Given the description of an element on the screen output the (x, y) to click on. 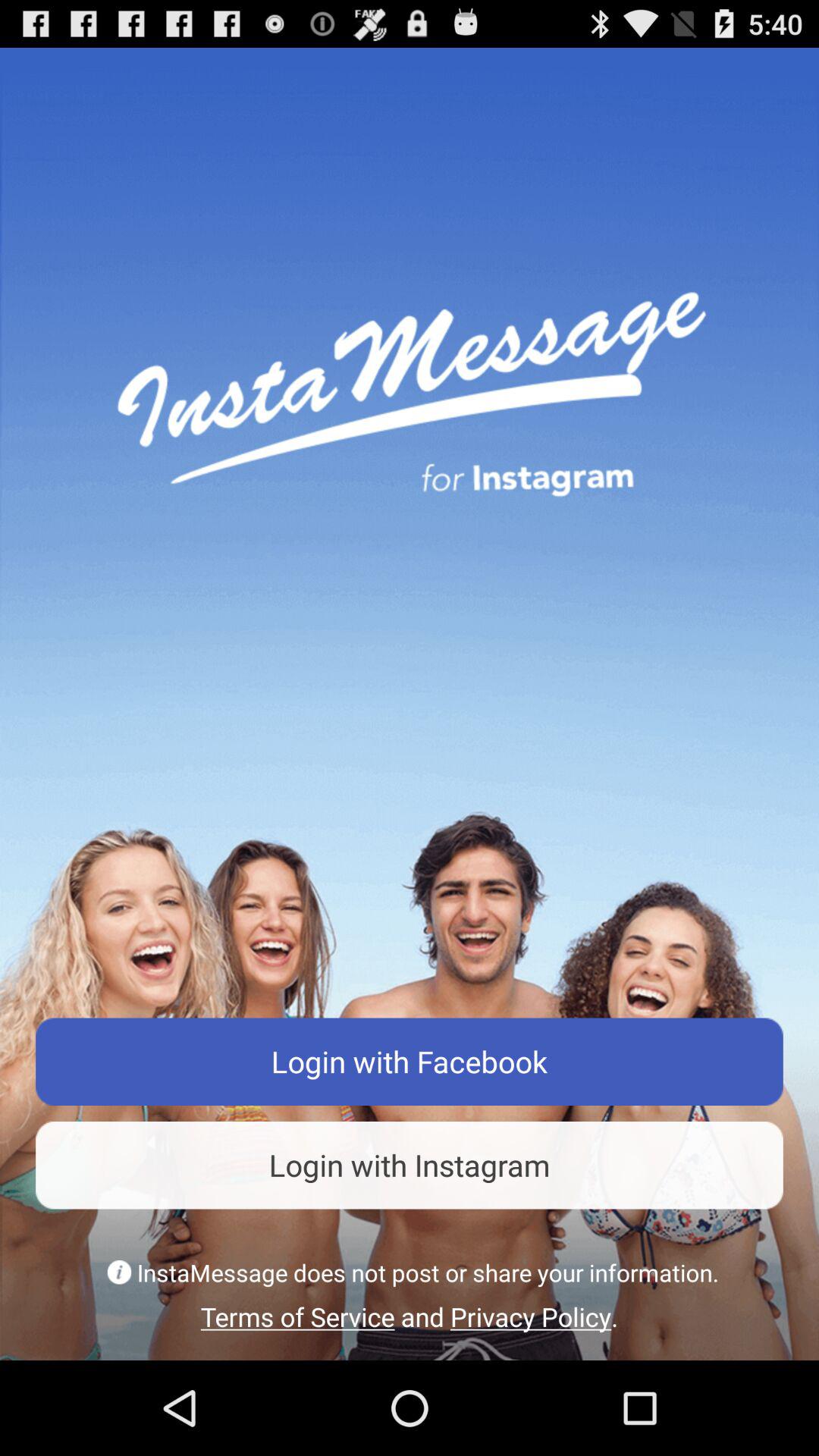
swipe until terms of service (409, 1316)
